Given the description of an element on the screen output the (x, y) to click on. 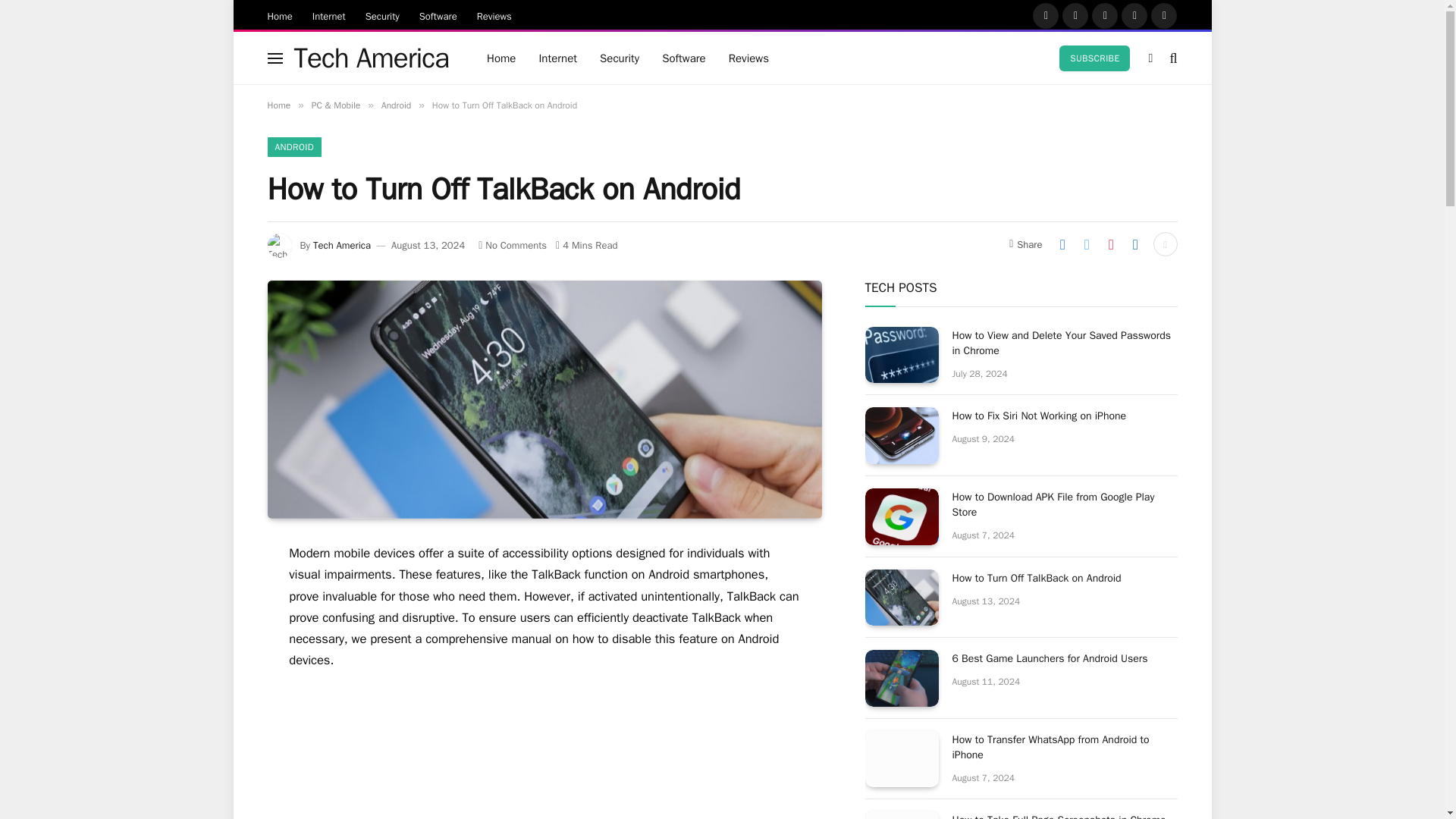
Software (683, 57)
Instagram (1105, 15)
Switch to Dark Design - easier on eyes. (1149, 57)
Posts by Tech America (342, 245)
Home (279, 15)
Home (501, 57)
ANDROID (293, 147)
Home (277, 105)
Tech America (371, 57)
Tech America (342, 245)
